Given the description of an element on the screen output the (x, y) to click on. 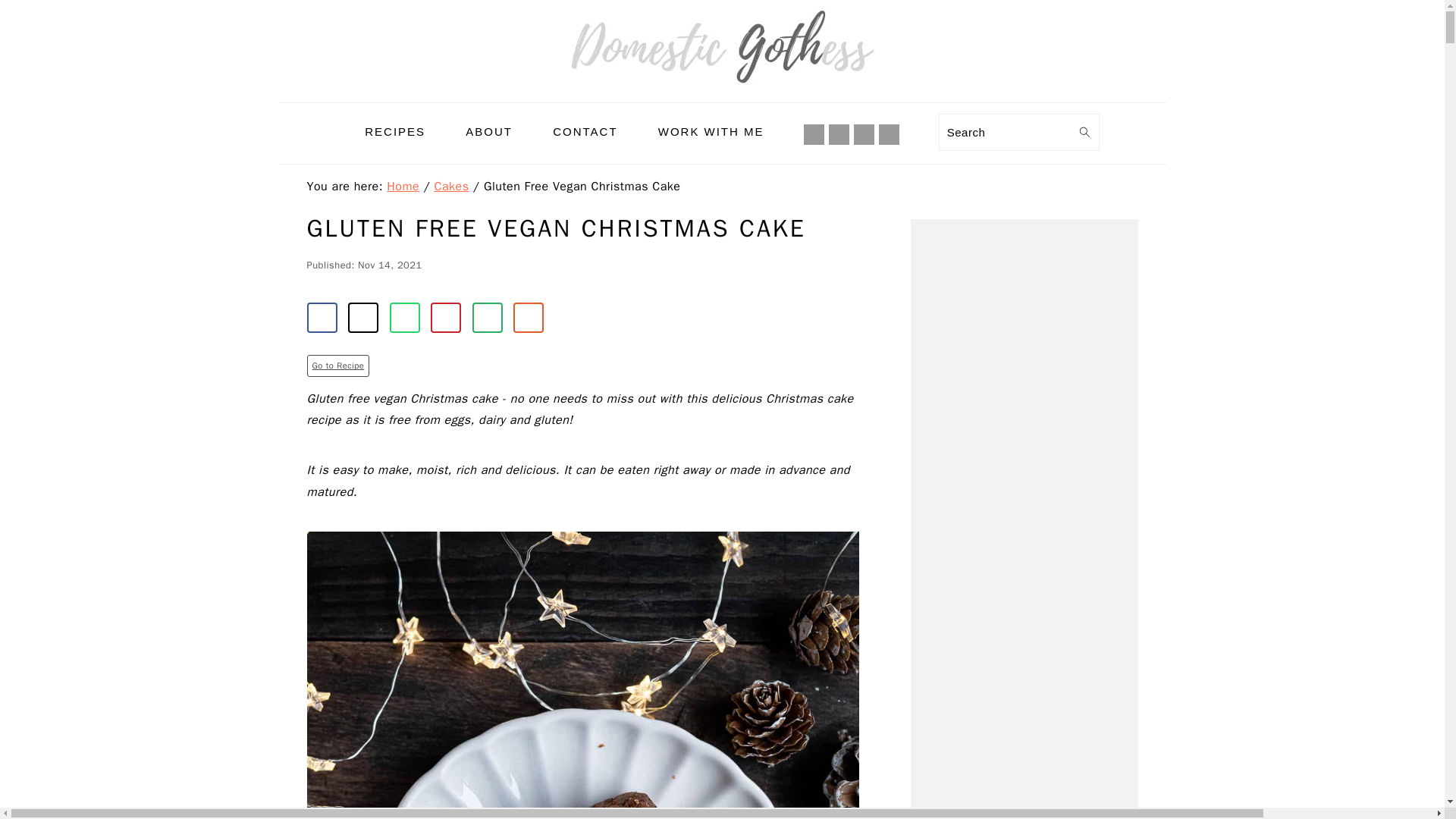
Instagram (839, 134)
Share on X (362, 317)
Domestic Gothess (721, 47)
Share on Yummly (528, 317)
Twitter (888, 134)
Go to Recipe (337, 364)
CONTACT (585, 131)
ABOUT (488, 131)
